Given the description of an element on the screen output the (x, y) to click on. 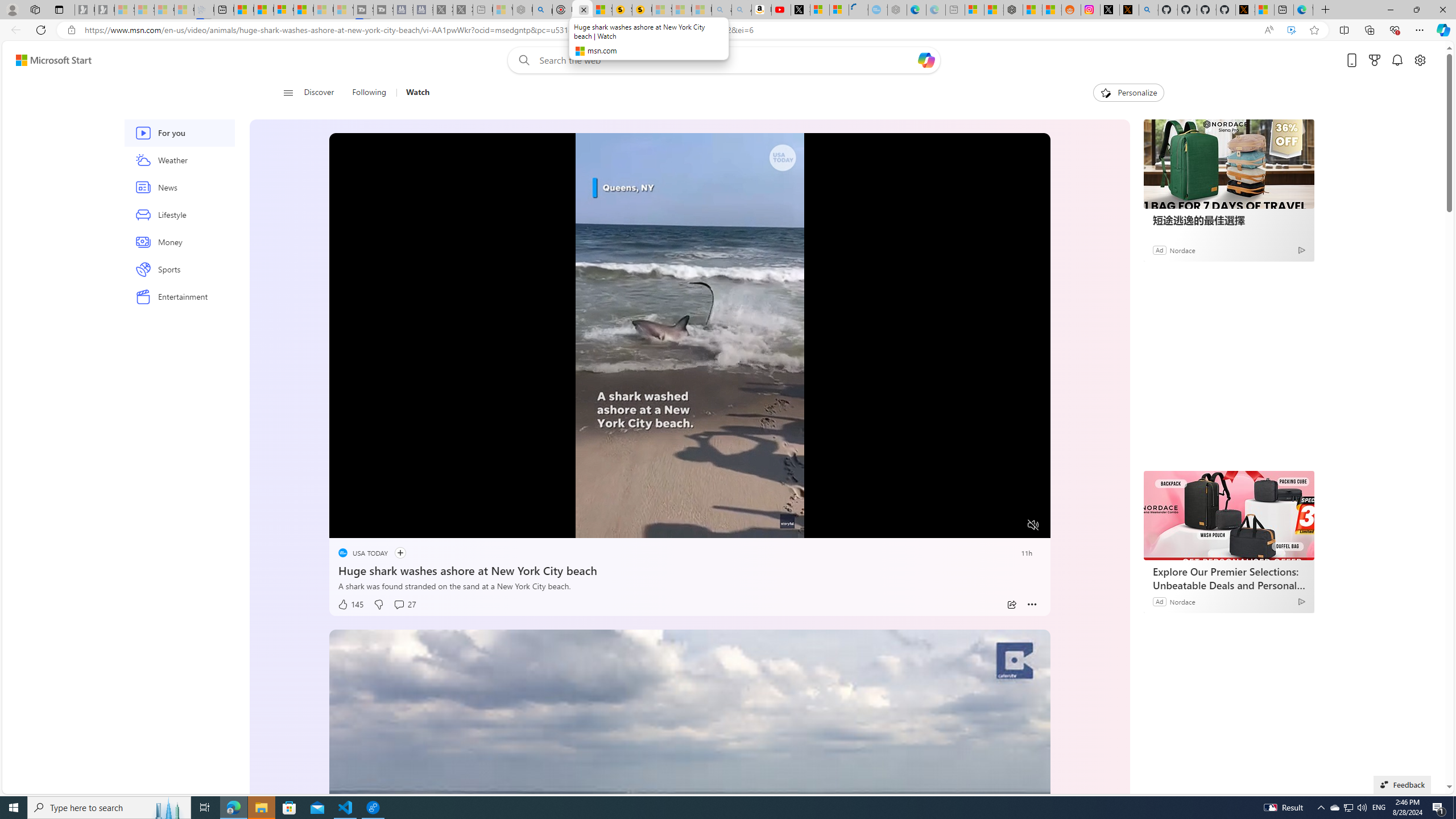
Quality Settings (964, 525)
Unmute (1033, 524)
Skip to footer (46, 59)
Enter your search term (726, 59)
